Given the description of an element on the screen output the (x, y) to click on. 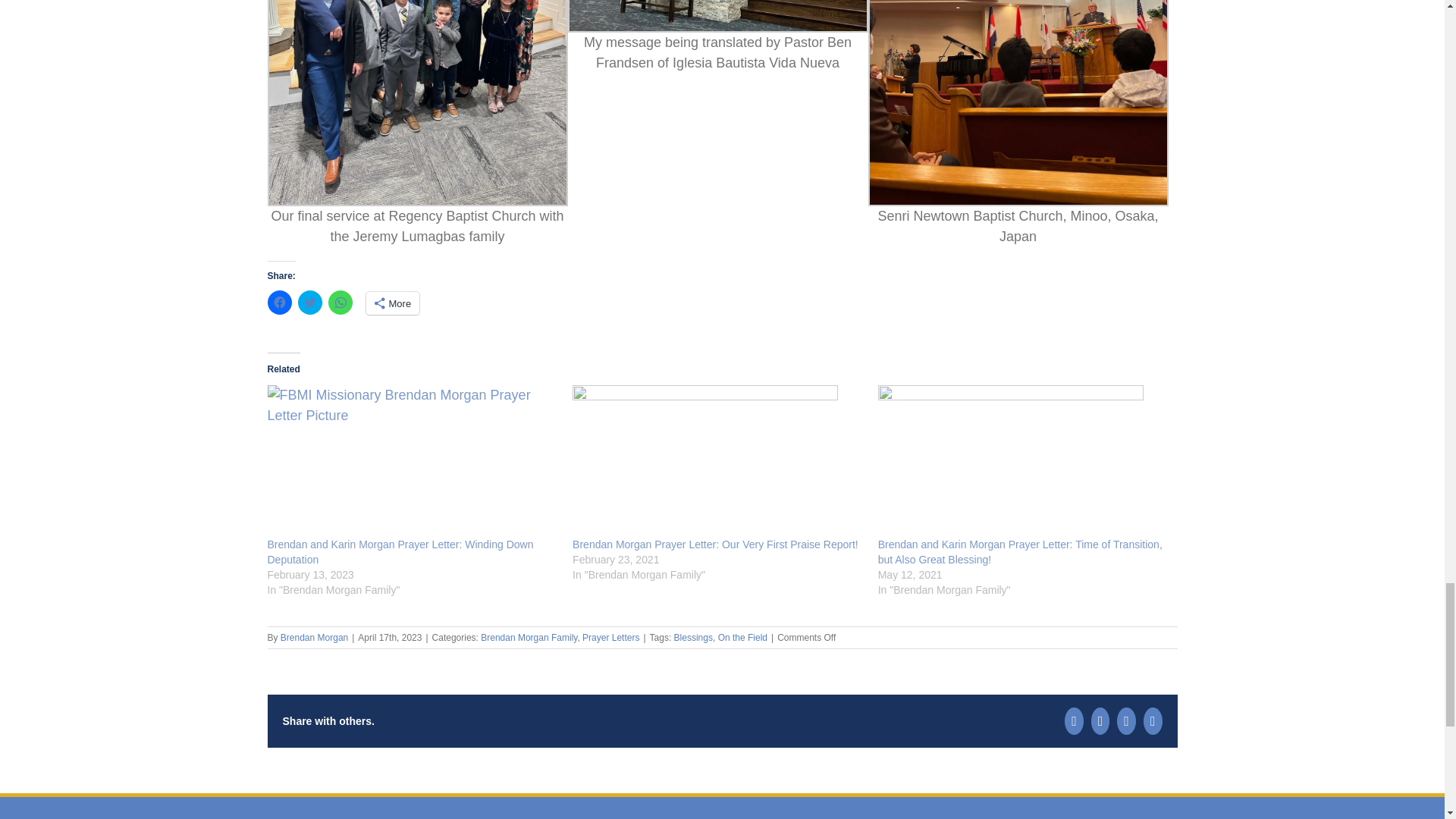
Click to share on Facebook (278, 302)
Click to share on WhatsApp (339, 302)
Click to share on Twitter (309, 302)
